Given the description of an element on the screen output the (x, y) to click on. 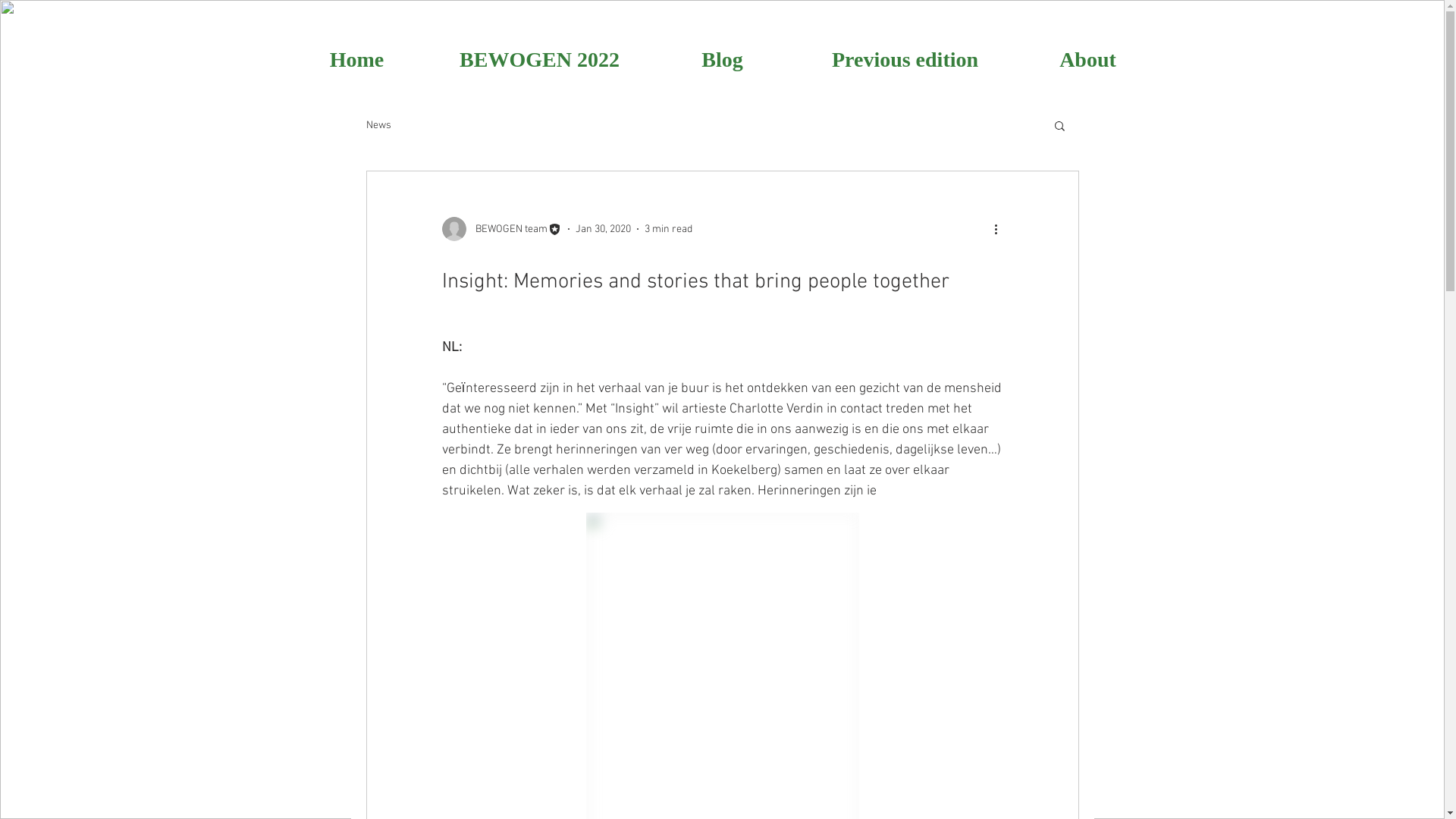
Blog Element type: text (721, 59)
BEWOGEN 2022 Element type: text (539, 59)
News Element type: text (377, 124)
Home Element type: text (356, 59)
About Element type: text (1087, 59)
BEWOGEN team Element type: text (501, 228)
Previous edition Element type: text (904, 59)
